Given the description of an element on the screen output the (x, y) to click on. 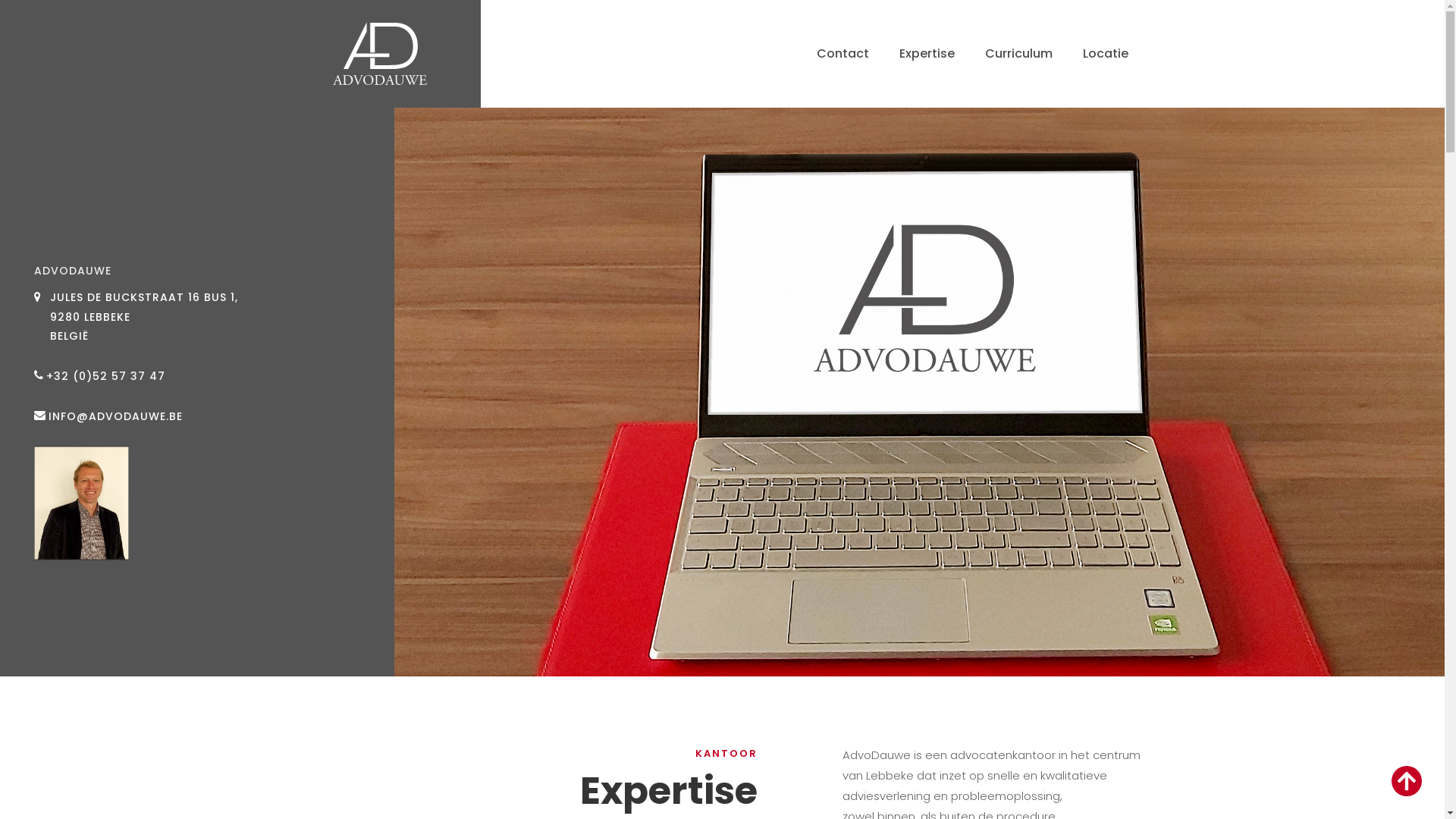
Curriculum Element type: text (1017, 53)
INFO@ADVODAUWE.BE Element type: text (115, 416)
Contact Element type: text (841, 53)
+32 (0)52 57 37 47 Element type: text (105, 375)
Expertise Element type: text (926, 53)
Locatie Element type: text (1105, 53)
